Given the description of an element on the screen output the (x, y) to click on. 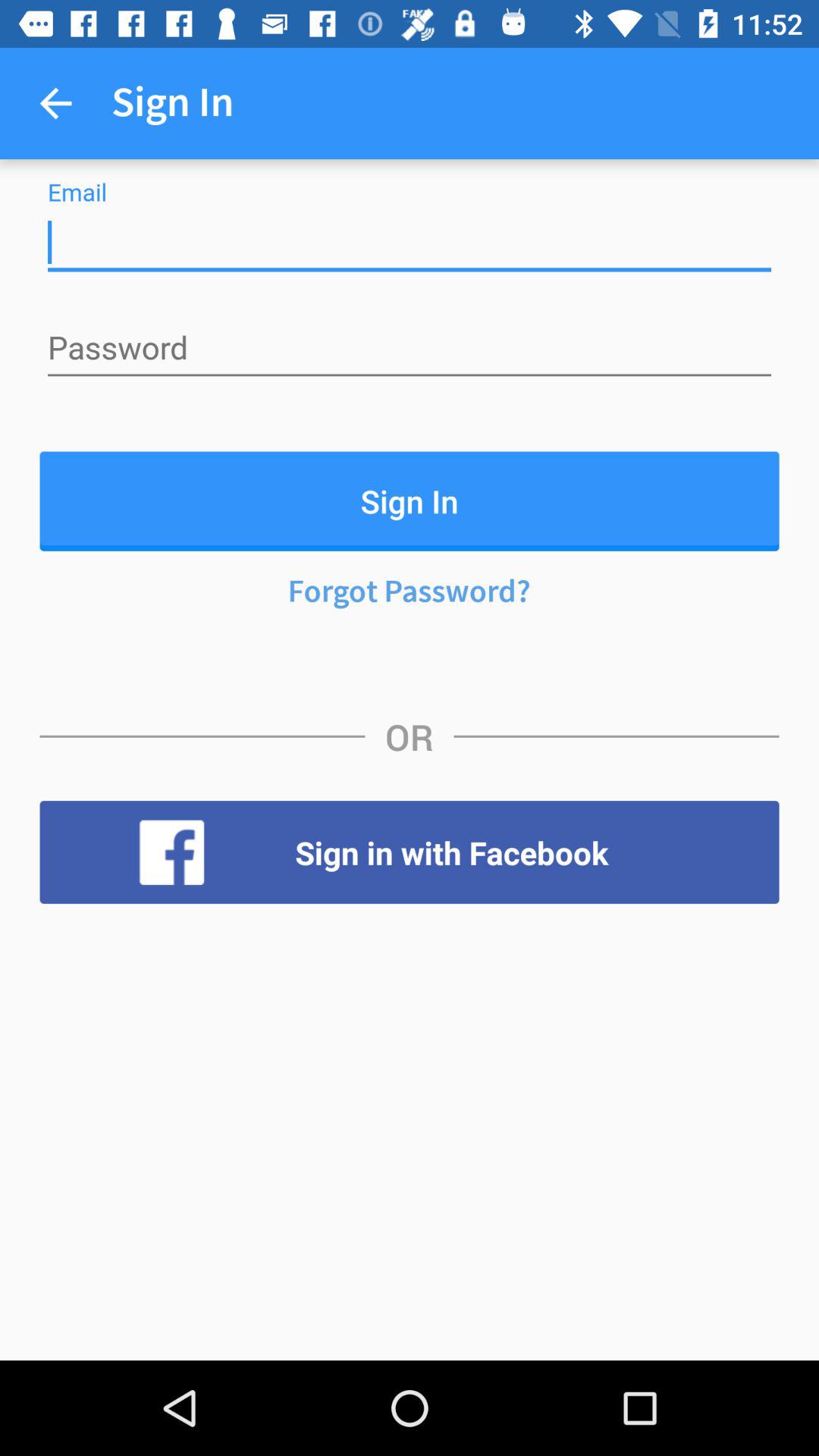
email option (409, 242)
